Given the description of an element on the screen output the (x, y) to click on. 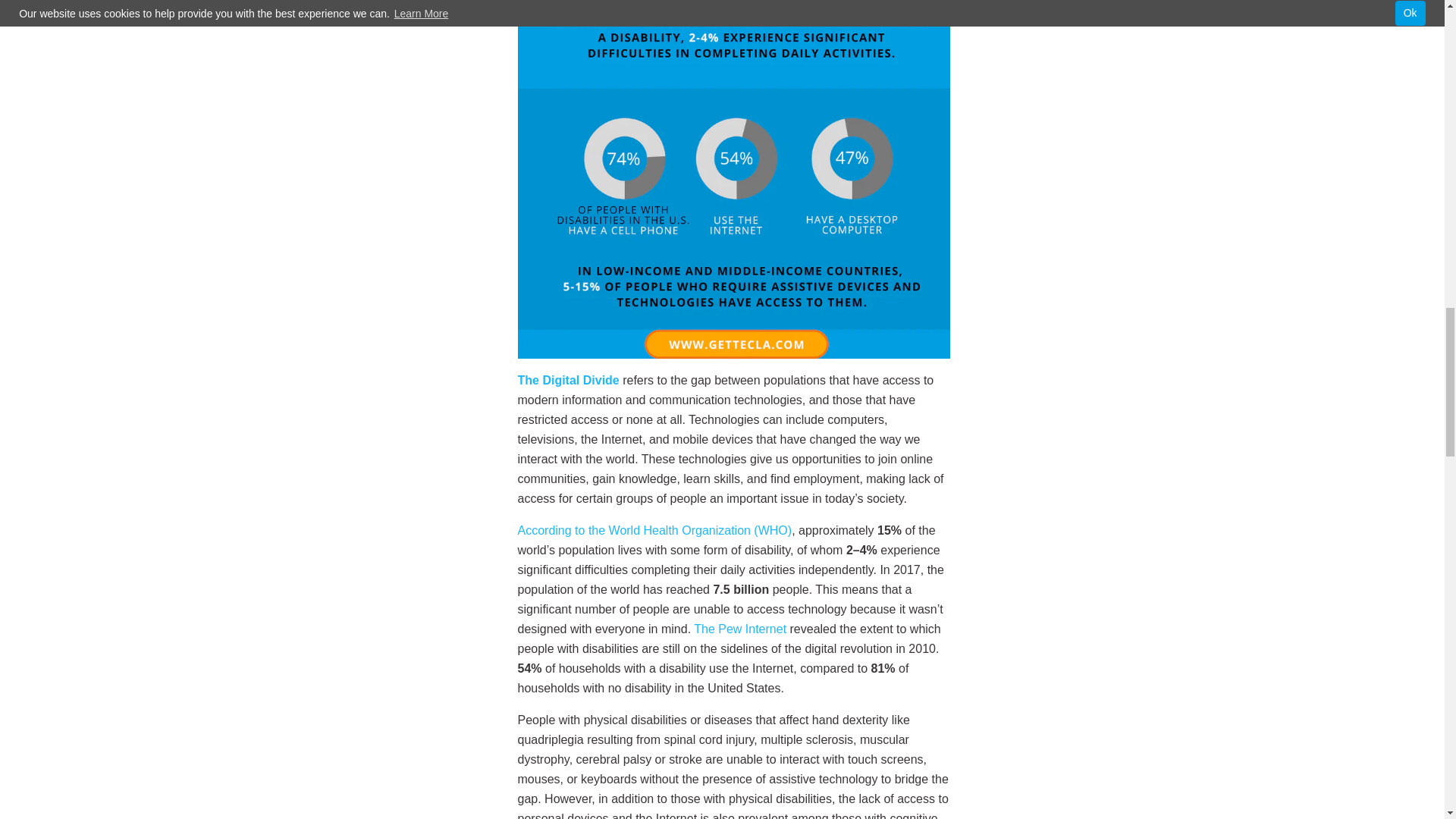
Pew Internet disability survey digital divide (740, 628)
